Given the description of an element on the screen output the (x, y) to click on. 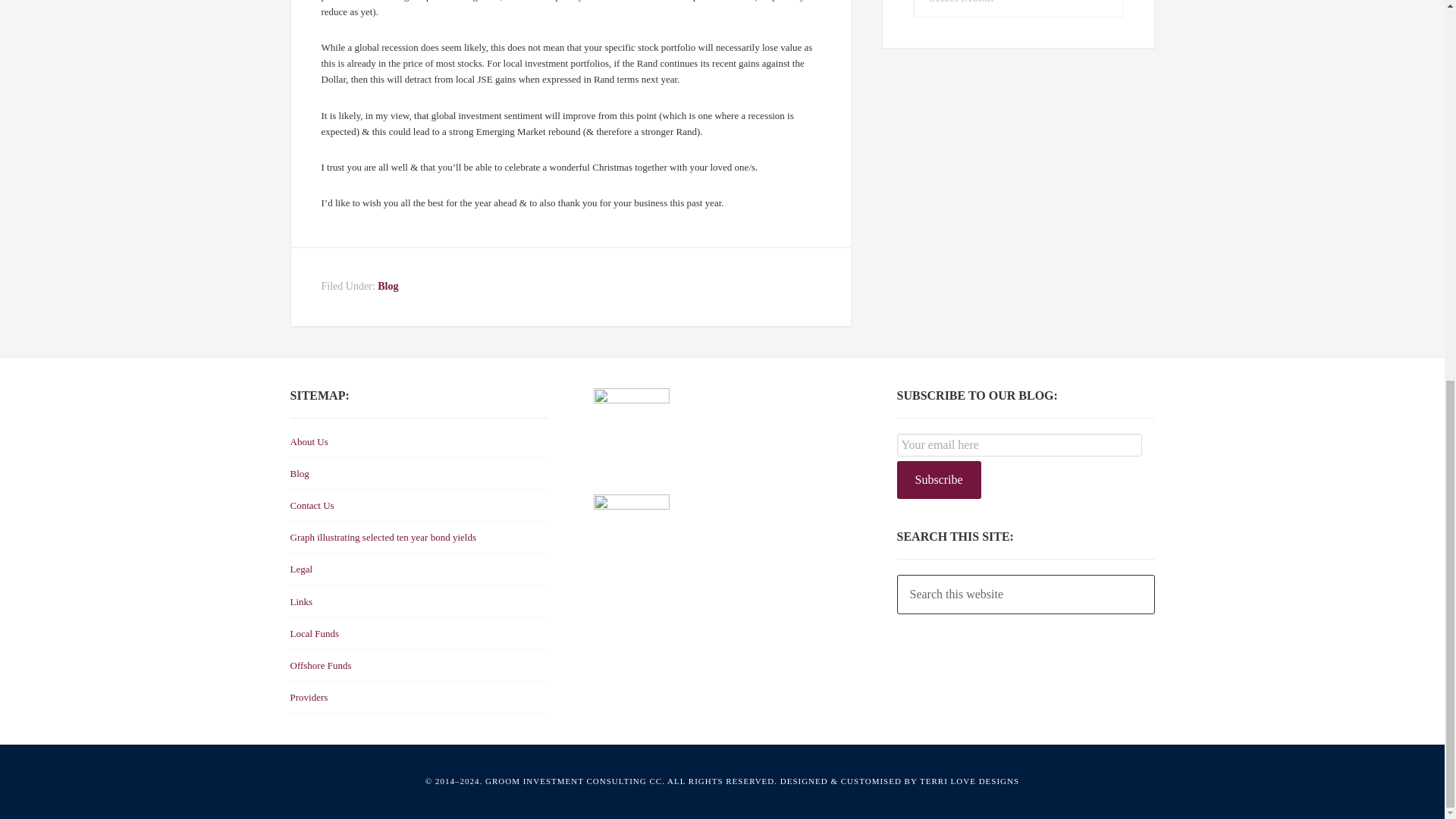
Blog (298, 473)
Offshore Funds (319, 665)
TERRI LOVE DESIGNS (969, 780)
Your email here (1018, 445)
Your email here (1018, 445)
About Us (308, 441)
Blog (387, 285)
Graph illustrating selected ten year bond yields (382, 536)
GROOM INVESTMENT CONSULTING CC (573, 780)
Contact Us (311, 505)
Local Funds (314, 633)
Subscribe (937, 479)
